Given the description of an element on the screen output the (x, y) to click on. 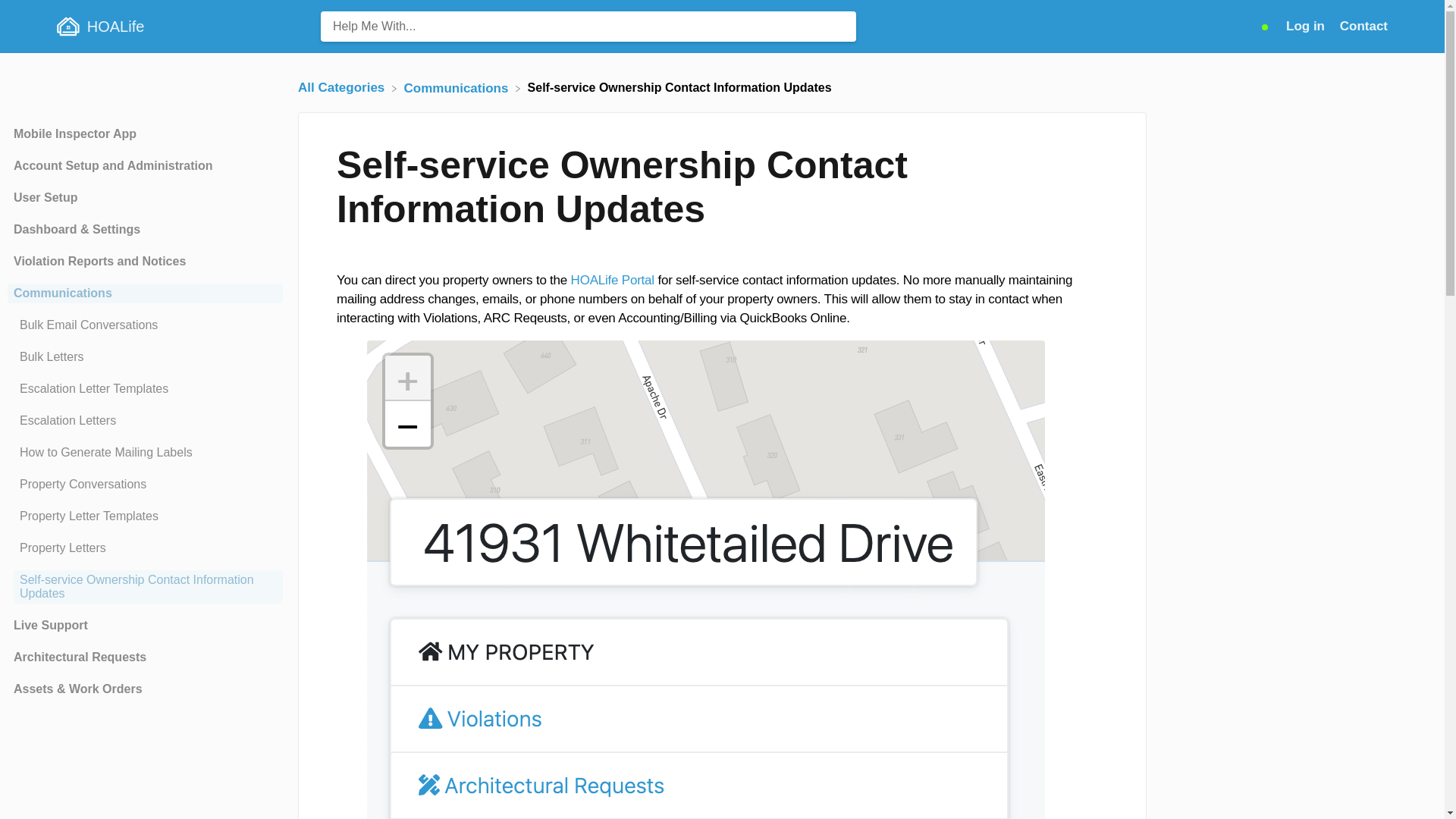
Log in (1306, 25)
Mobile Inspector App (144, 134)
Contact (1363, 25)
HOALife (186, 26)
Account Setup and Administration (144, 166)
User Setup (144, 198)
